Given the description of an element on the screen output the (x, y) to click on. 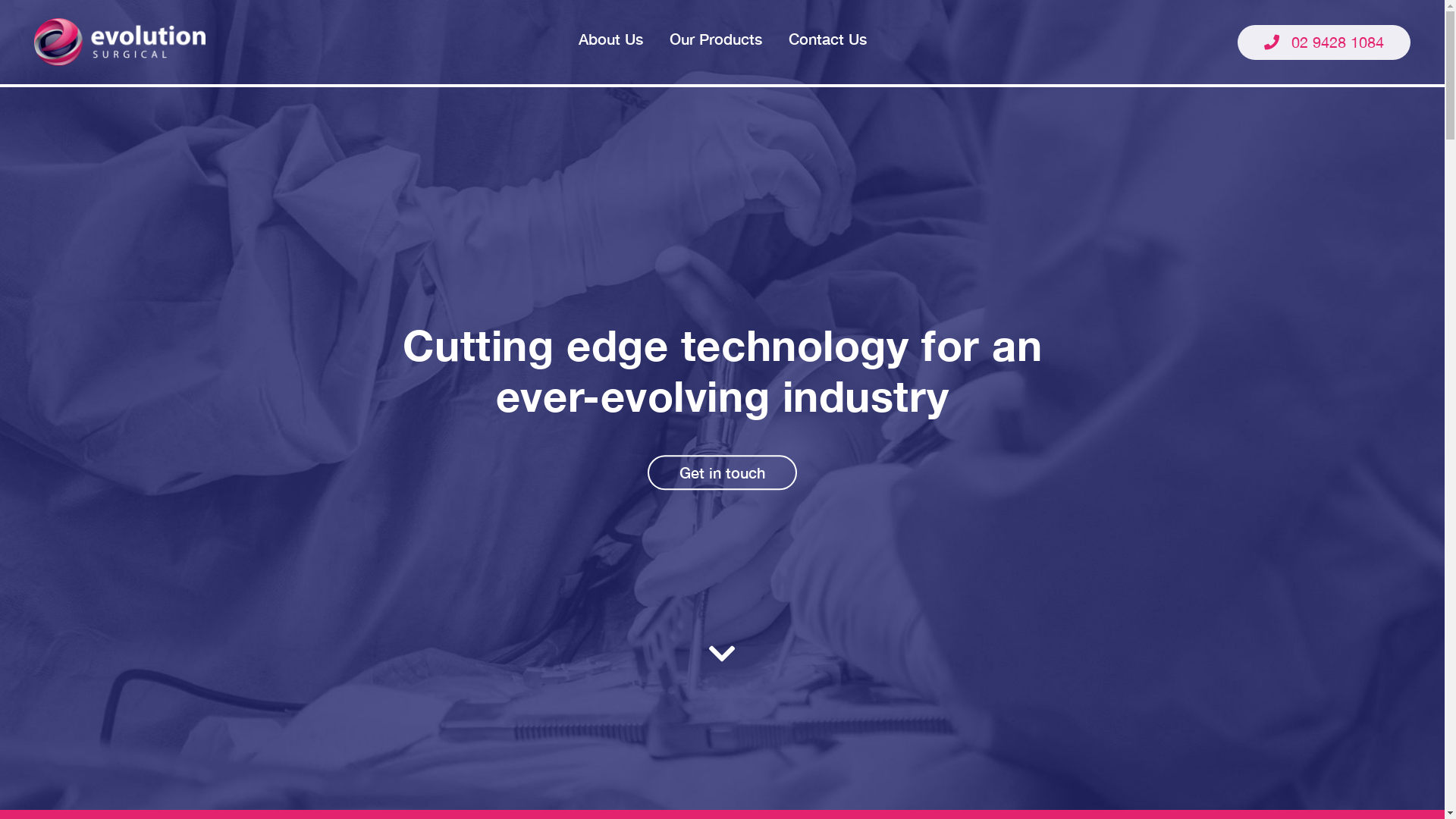
Our Products Element type: text (714, 42)
About Us Element type: text (609, 42)
02 9428 1084 Element type: text (1323, 41)
Contact Us Element type: text (827, 42)
Get in touch Element type: text (722, 472)
